Given the description of an element on the screen output the (x, y) to click on. 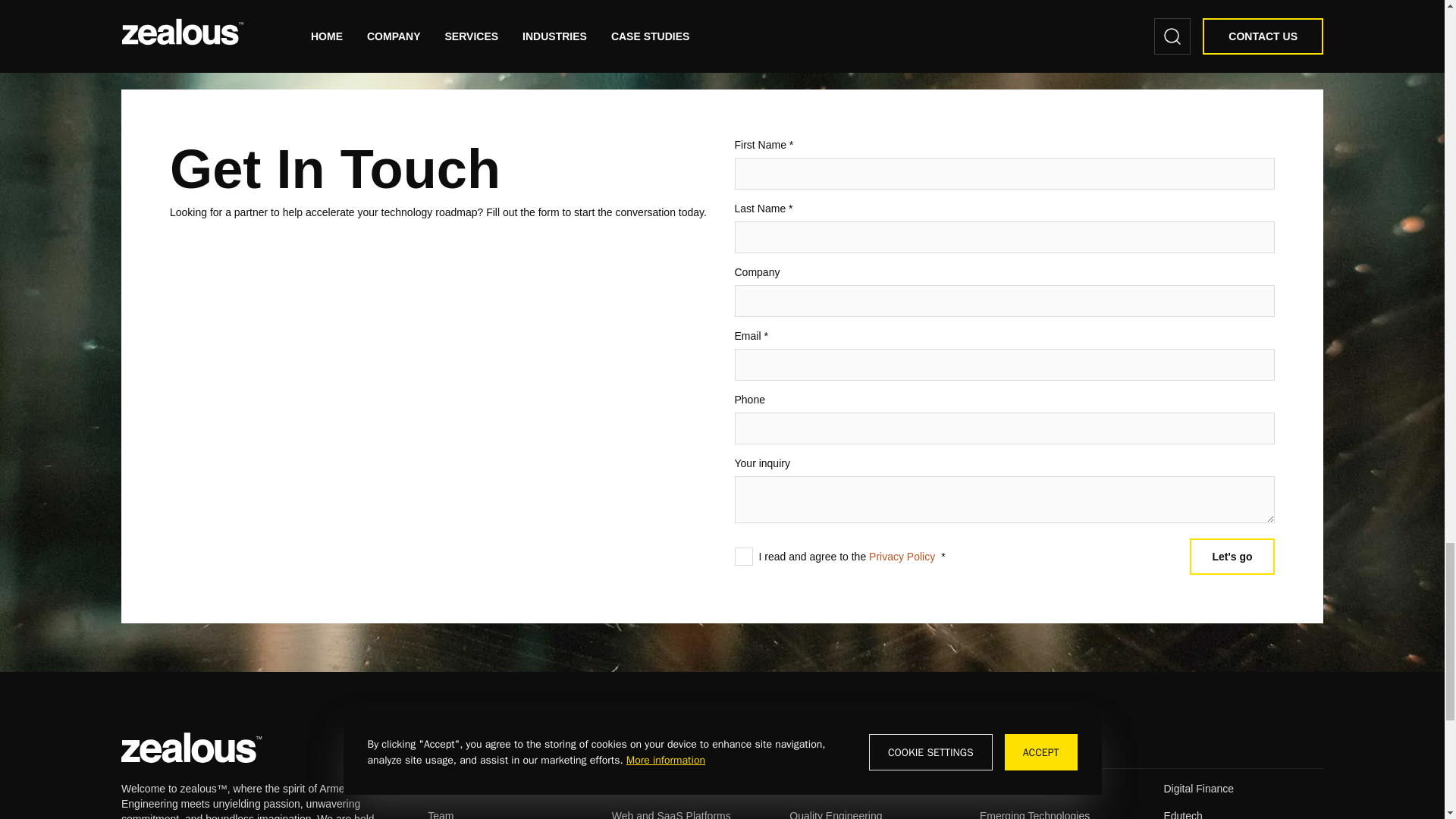
Let's go (1232, 556)
About Us (449, 788)
COMPANY (454, 750)
Team (440, 814)
Privacy Policy (901, 556)
